Given the description of an element on the screen output the (x, y) to click on. 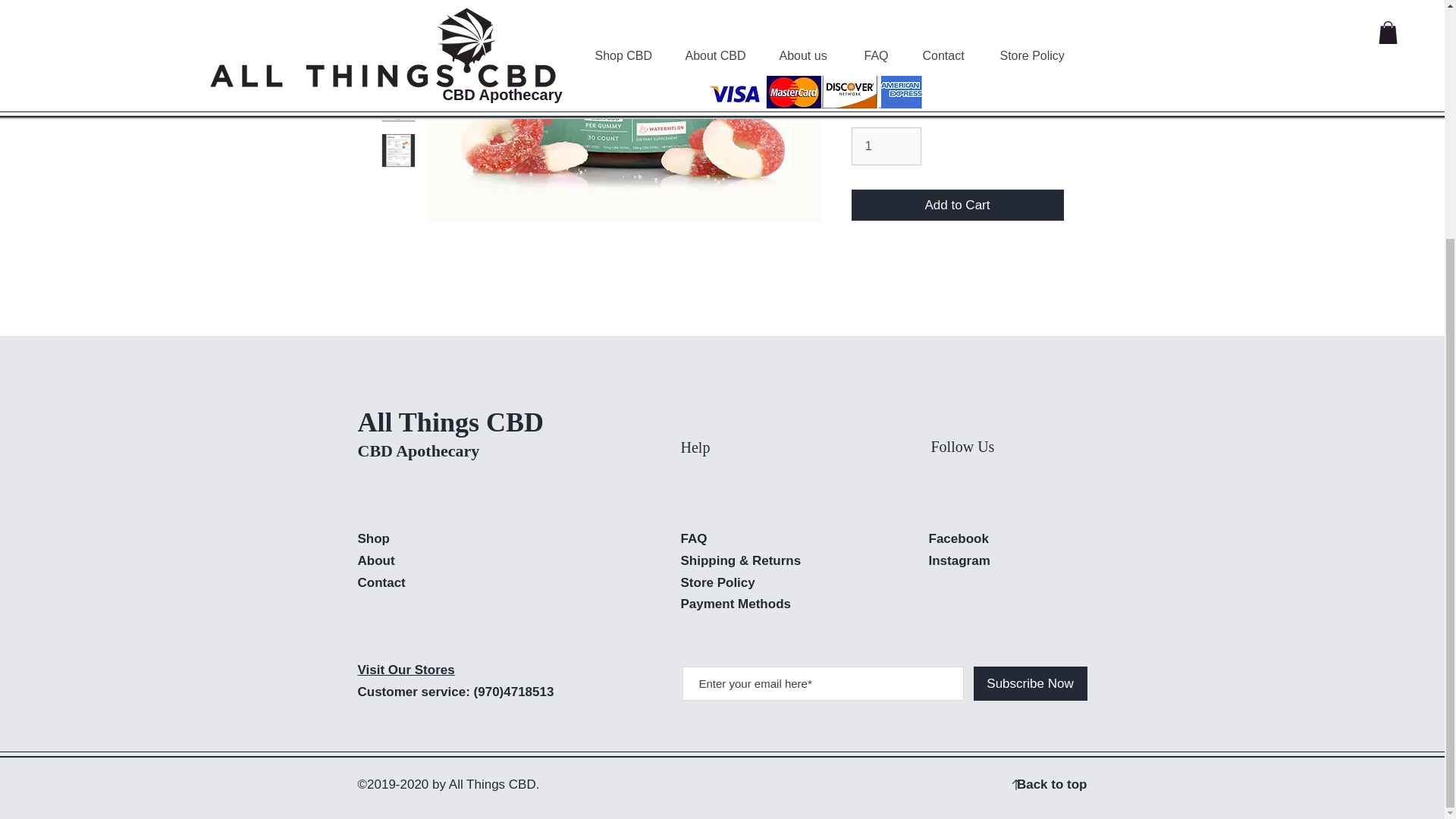
Shop (374, 538)
FAQ (694, 538)
About (376, 560)
Subscribe Now (1030, 683)
Back to top (1051, 784)
1 (885, 145)
Store Policy (718, 582)
Visit Our Stores (406, 669)
Instagram (959, 560)
Add to Cart (956, 205)
Facebook (958, 538)
Payment Methods  (737, 603)
Contact (382, 582)
